Given the description of an element on the screen output the (x, y) to click on. 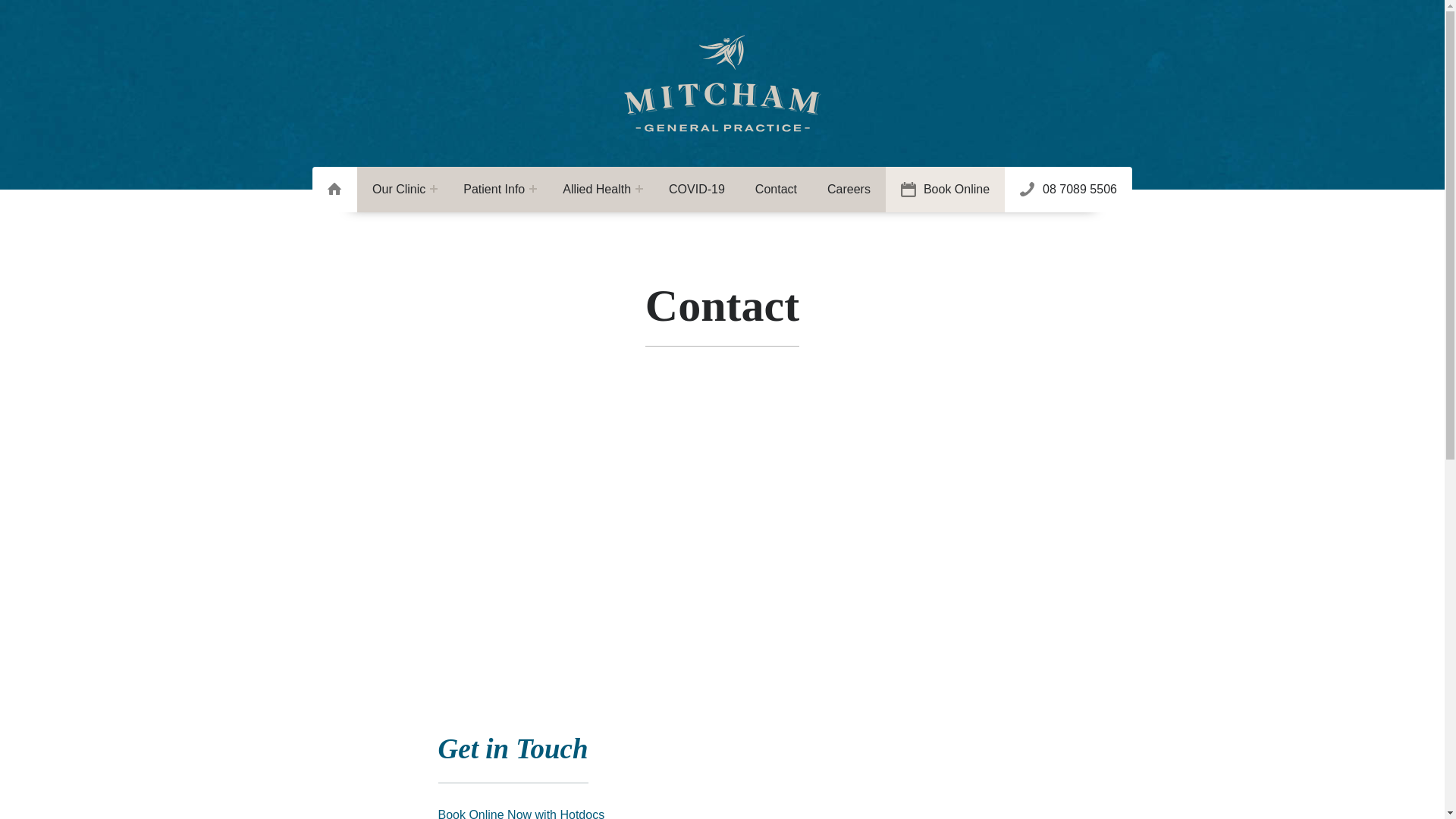
Book Online Element type: text (944, 189)
COVID-19 Element type: text (696, 189)
08 7089 5506 Element type: text (1068, 189)
Careers Element type: text (848, 189)
Contact Element type: text (776, 189)
